Given the description of an element on the screen output the (x, y) to click on. 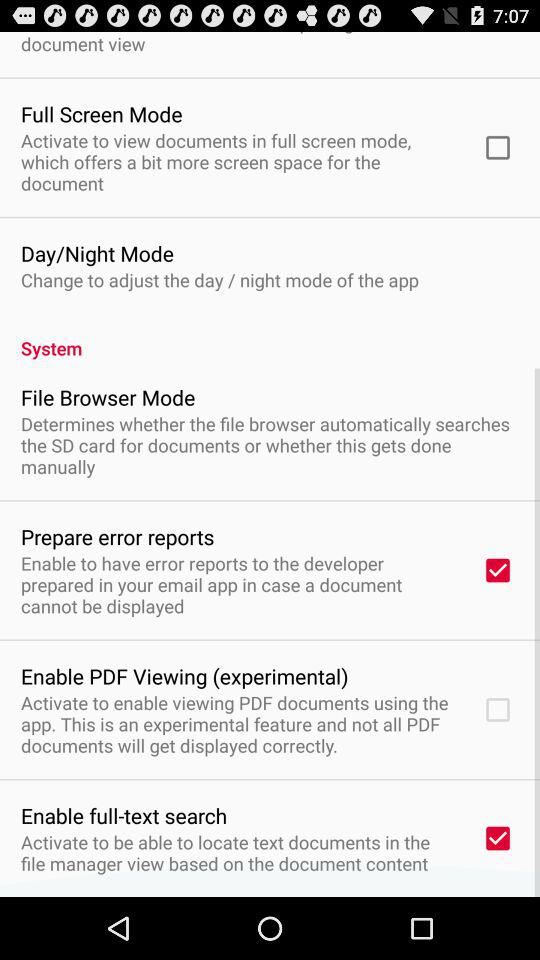
open the app below change to adjust icon (270, 337)
